Given the description of an element on the screen output the (x, y) to click on. 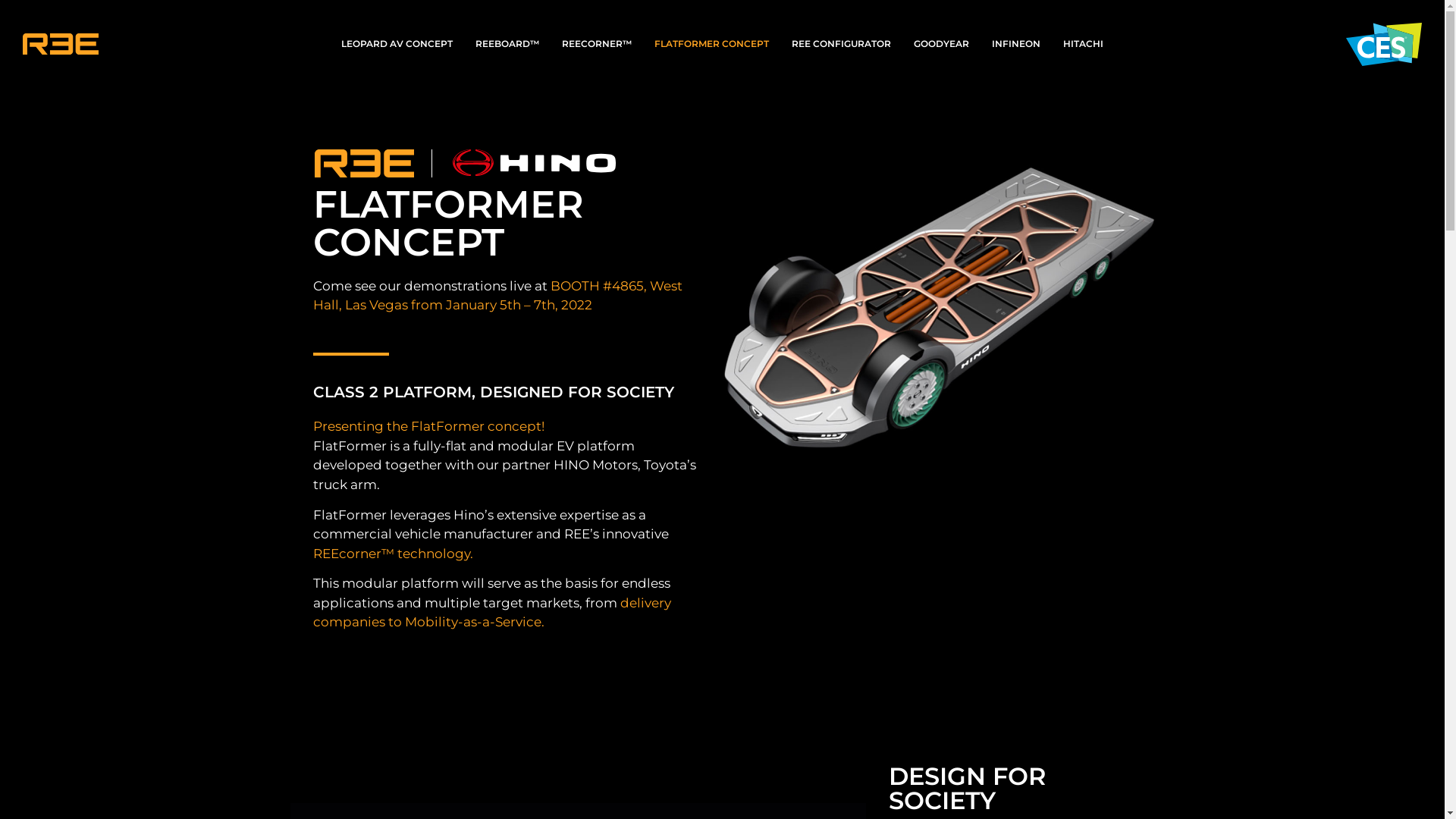
FLATFORMER CONCEPT Element type: text (711, 43)
LEOPARD AV CONCEPT Element type: text (396, 43)
REE CONFIGURATOR Element type: text (841, 43)
GOODYEAR Element type: text (941, 43)
HITACHI Element type: text (1083, 43)
INFINEON Element type: text (1015, 43)
